Given the description of an element on the screen output the (x, y) to click on. 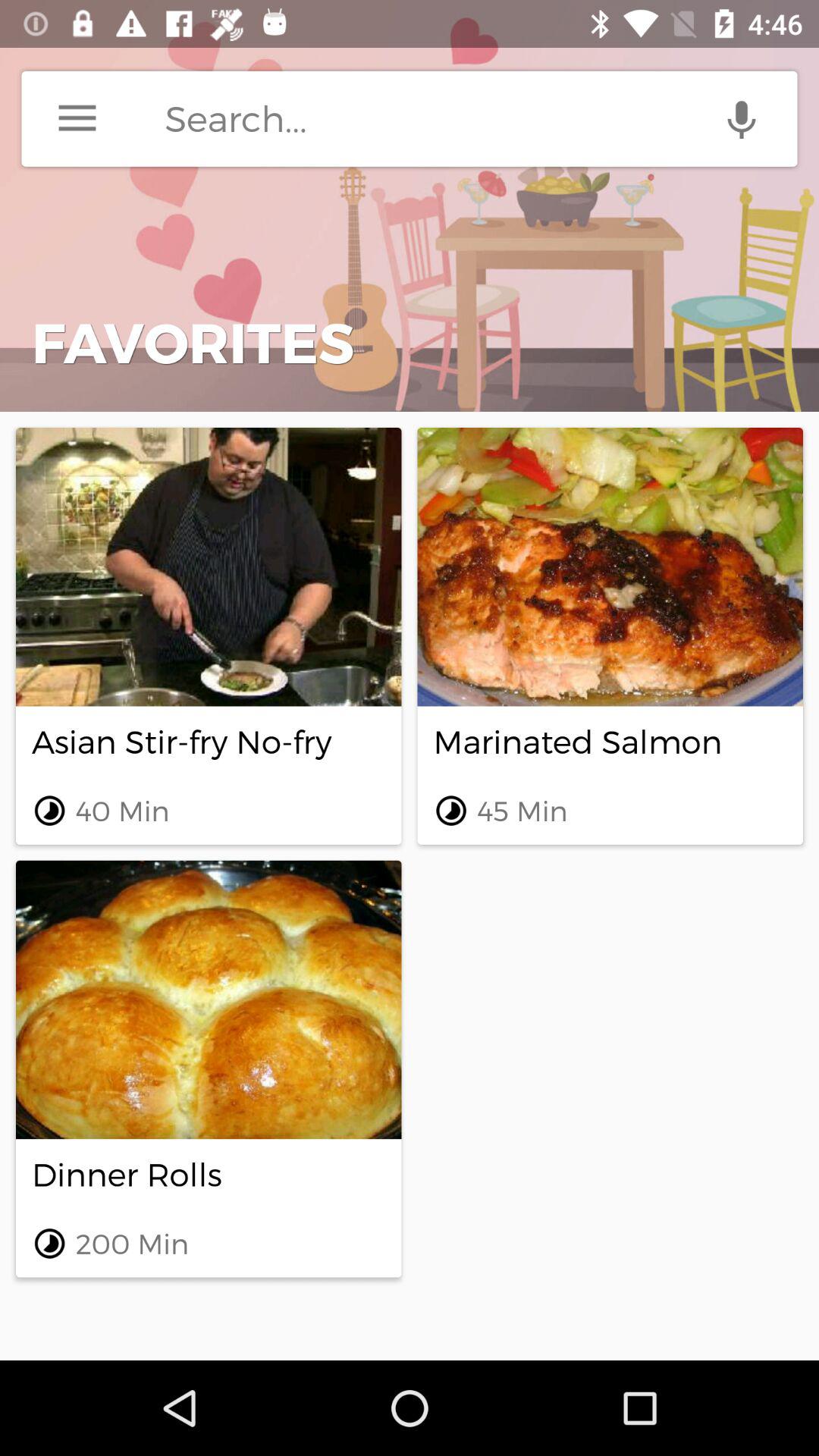
search (480, 118)
